Given the description of an element on the screen output the (x, y) to click on. 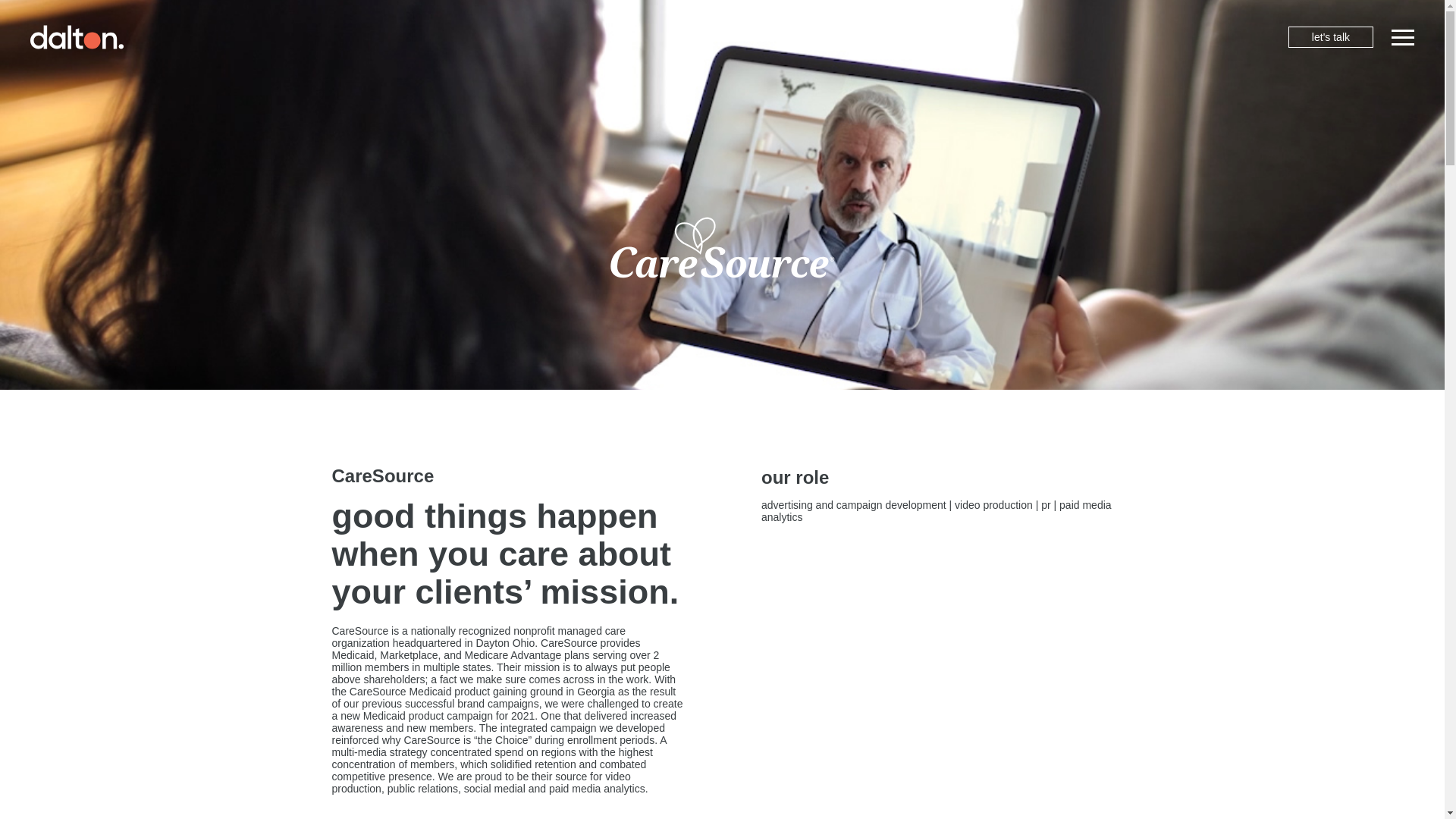
insights (366, 487)
home (397, 158)
advertising and campaign development (853, 504)
about (398, 217)
work (388, 276)
let's talk (1330, 36)
capabilities (465, 335)
paid media analytics (936, 510)
video production (993, 504)
privacy policy (391, 509)
careers (363, 465)
contact (418, 395)
